Given the description of an element on the screen output the (x, y) to click on. 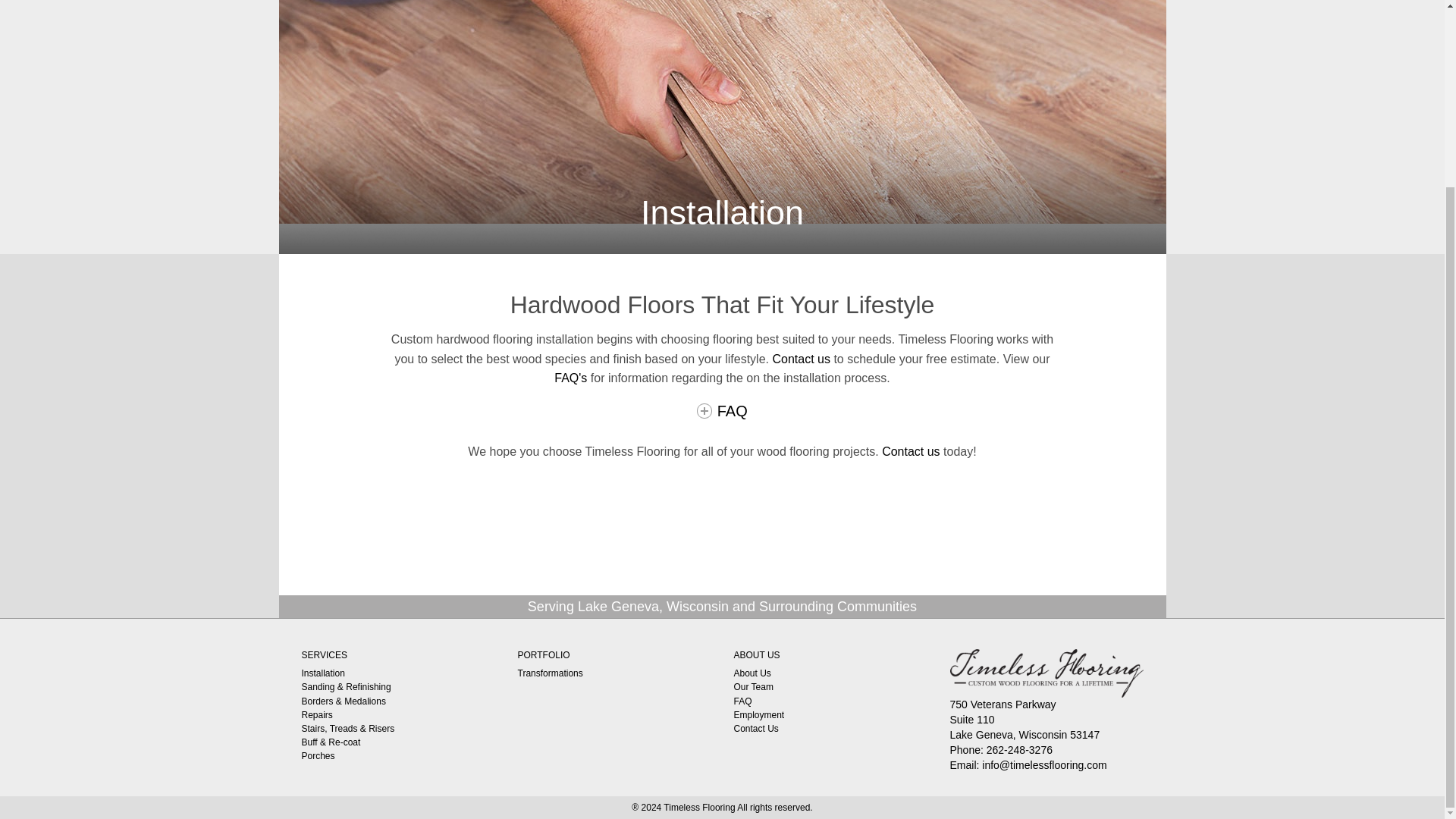
Our Team (753, 686)
FAQ's (570, 377)
FAQ (722, 410)
Repairs (317, 715)
262-248-3276 (1019, 749)
Contact us (910, 451)
Installation (323, 673)
Contact us (800, 358)
About Us (752, 673)
Employment (758, 715)
